Given the description of an element on the screen output the (x, y) to click on. 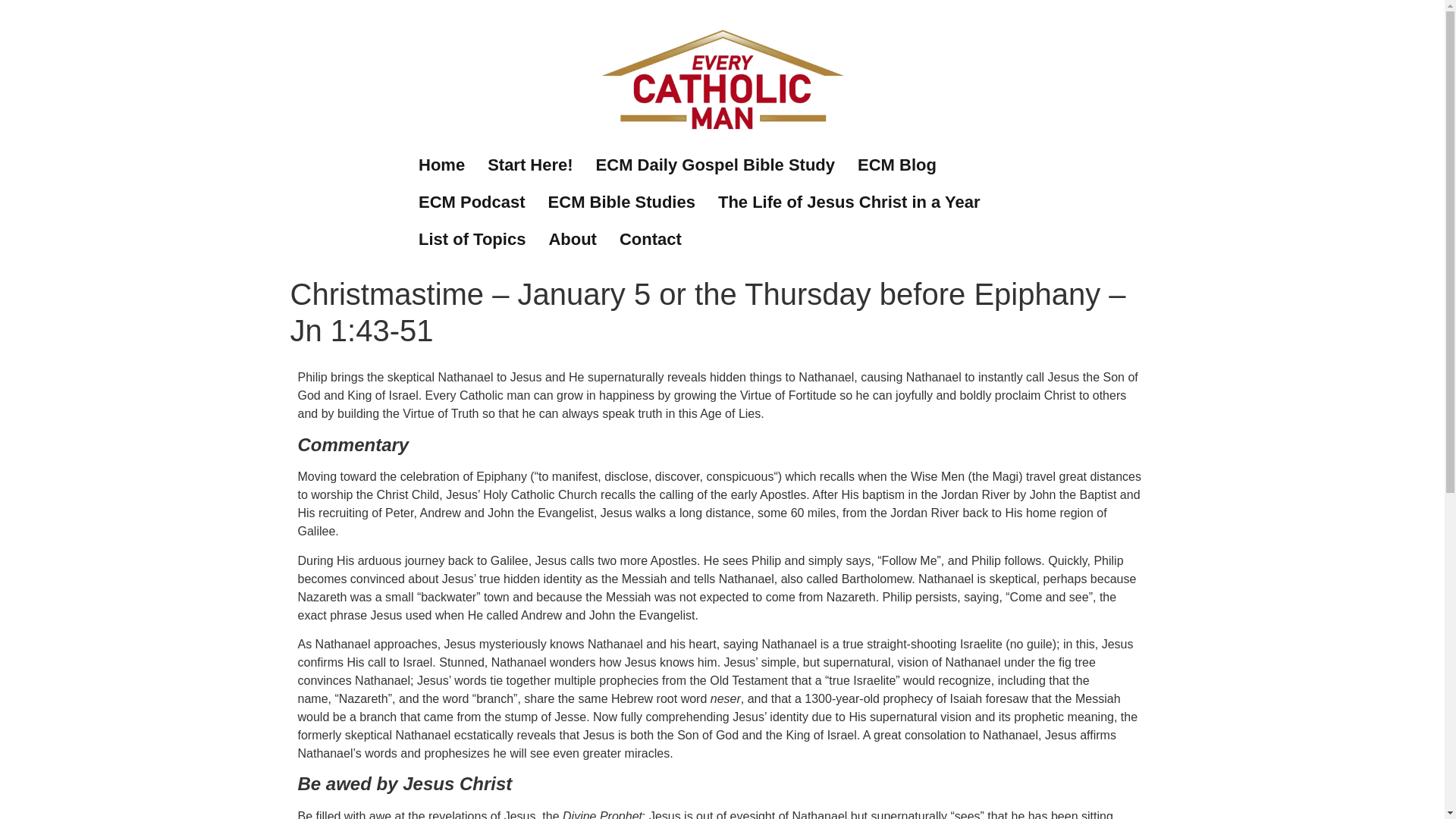
List of Topics (472, 238)
Home (441, 164)
ECM Bible Studies (621, 201)
ECM Daily Gospel Bible Study (715, 164)
Contact (650, 238)
Start Here! (529, 164)
ECM Blog (896, 164)
ECM Podcast (472, 201)
About (572, 238)
The Life of Jesus Christ in a Year (848, 201)
